Given the description of an element on the screen output the (x, y) to click on. 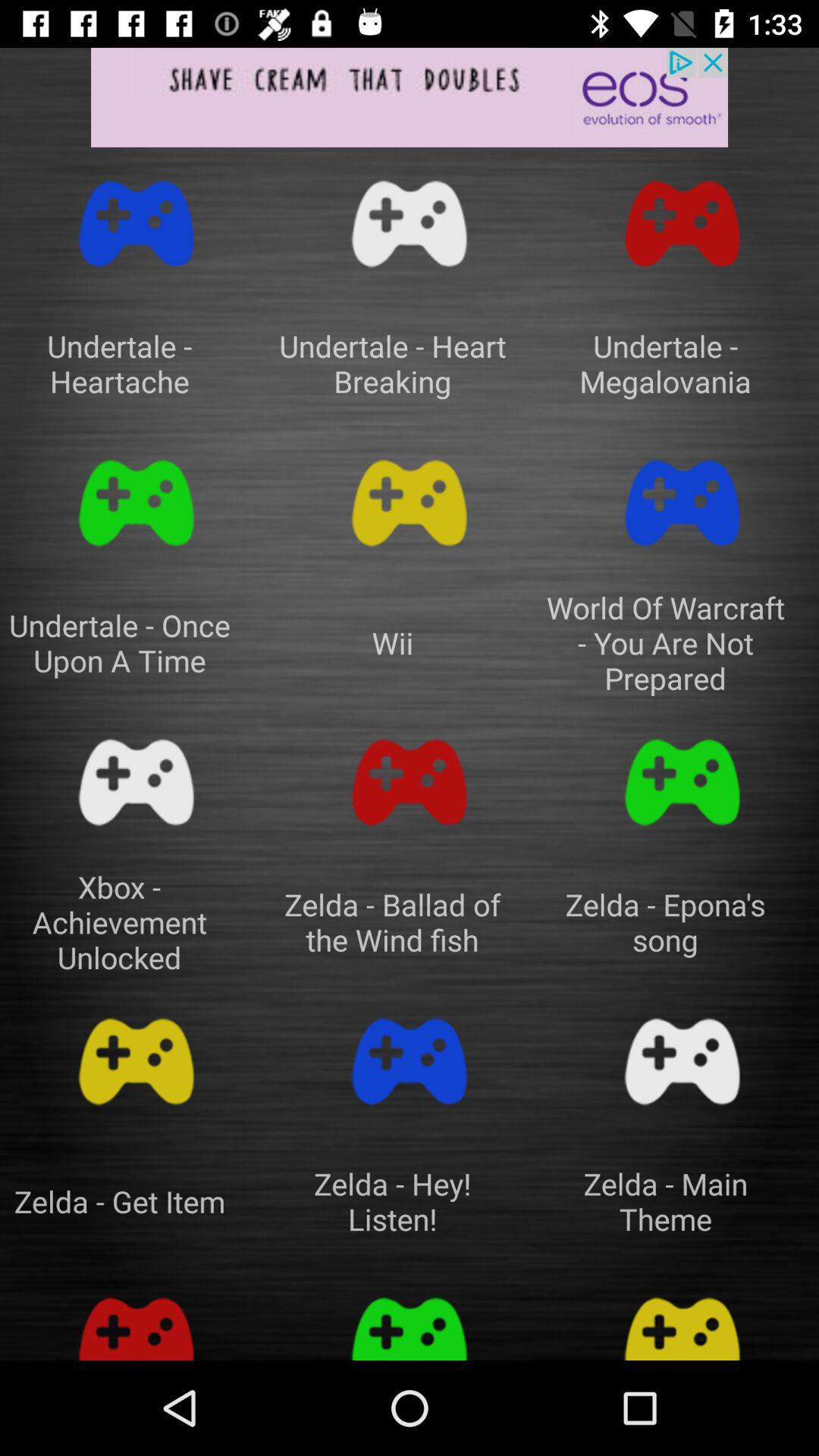
open game (682, 1061)
